Given the description of an element on the screen output the (x, y) to click on. 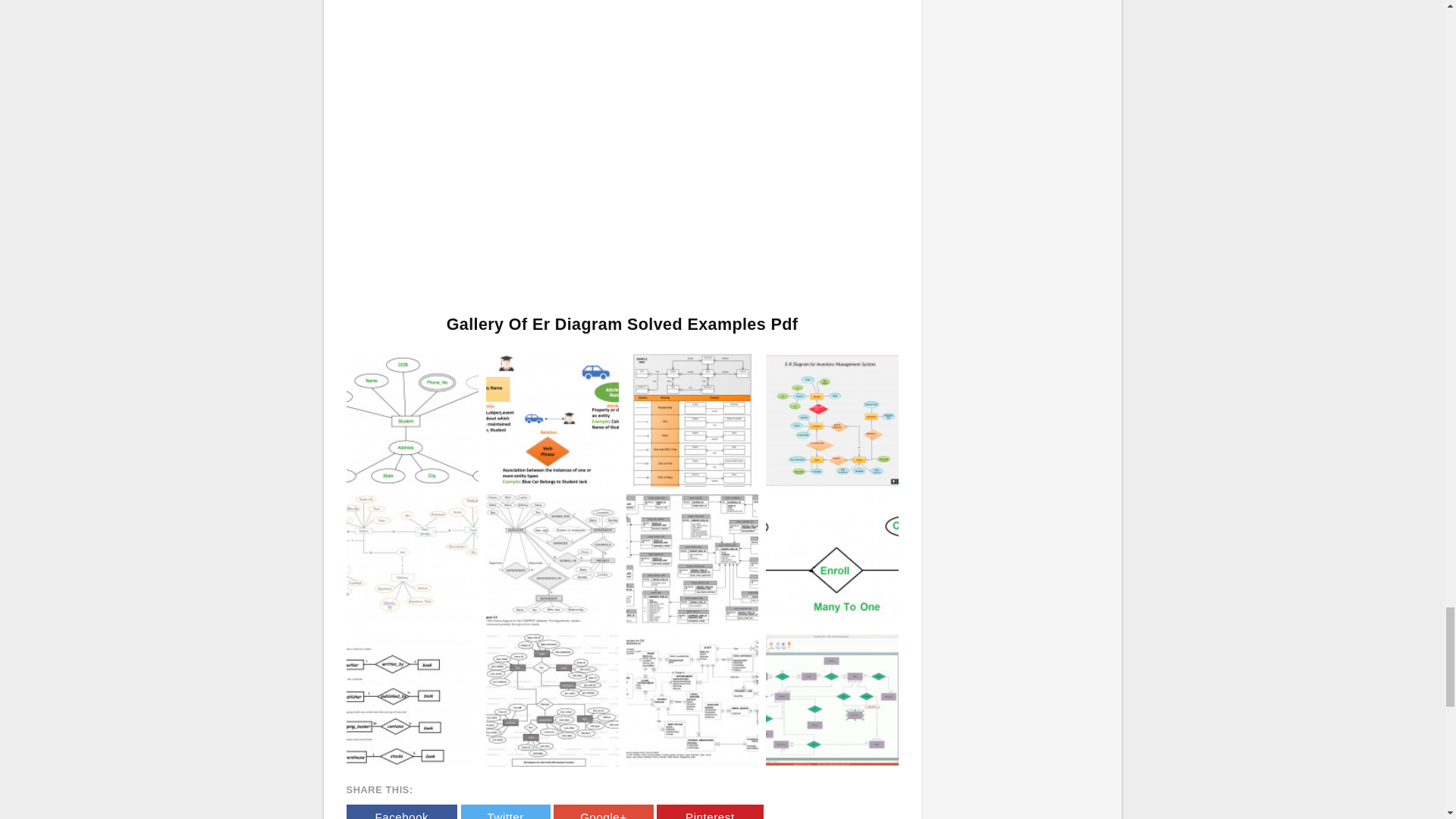
Pinterest (709, 811)
Twitter (505, 811)
Facebook (401, 811)
